Given the description of an element on the screen output the (x, y) to click on. 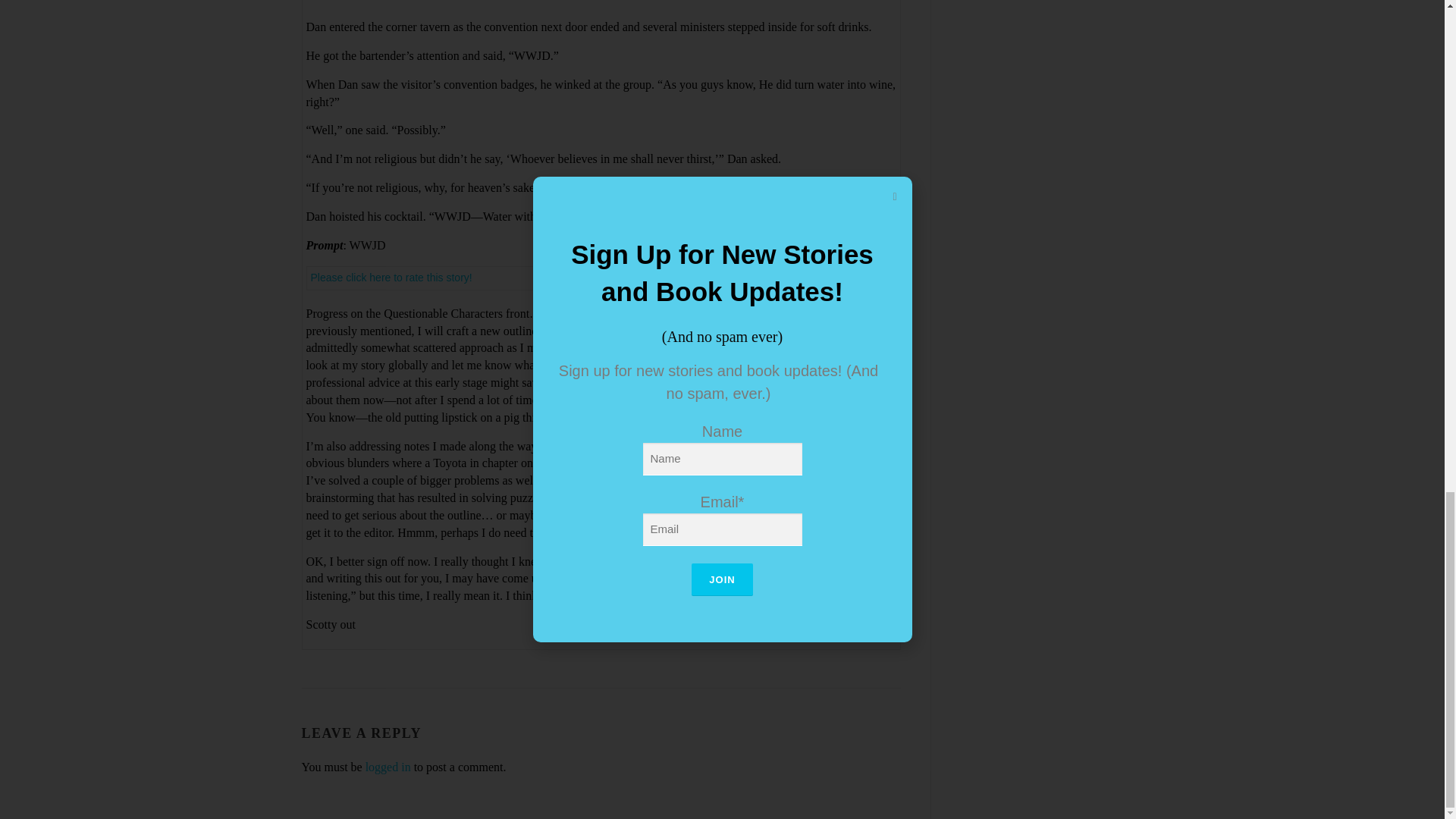
logged in (387, 766)
Please click here to rate this story! (391, 277)
